Given the description of an element on the screen output the (x, y) to click on. 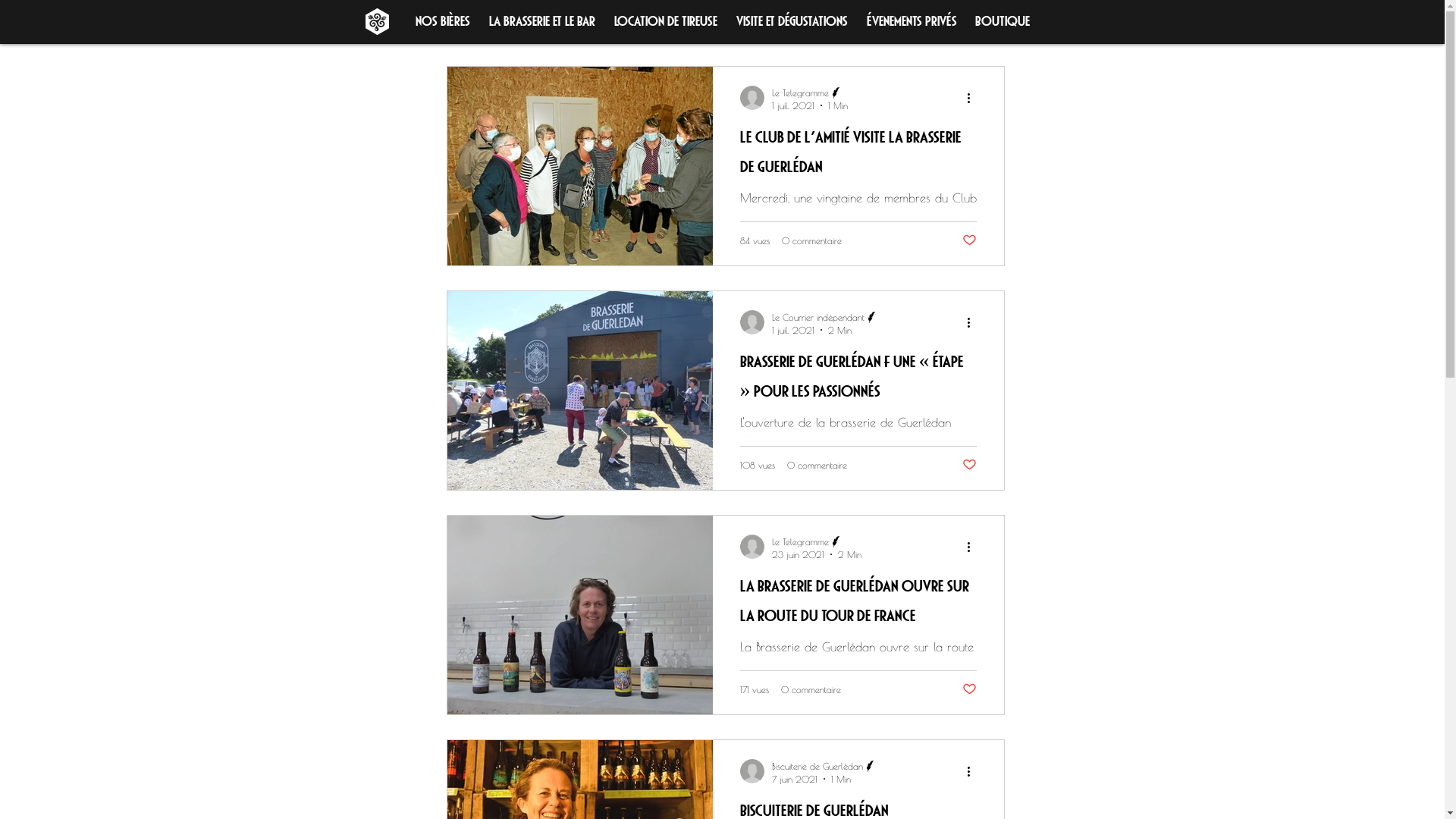
Tous les posts Element type: text (475, 20)
Vous n'aimez plus ce post Element type: text (968, 464)
Vous n'aimez plus ce post Element type: text (968, 688)
0 commentaire Element type: text (810, 689)
0 commentaire Element type: text (810, 240)
Vous n'aimez plus ce post Element type: text (968, 239)
La brasserie et le Bar Element type: text (541, 19)
Boutique Element type: text (1002, 19)
Connexion/Inscription Element type: text (936, 20)
0 commentaire Element type: text (817, 464)
Location de tireuse Element type: text (666, 19)
